Given the description of an element on the screen output the (x, y) to click on. 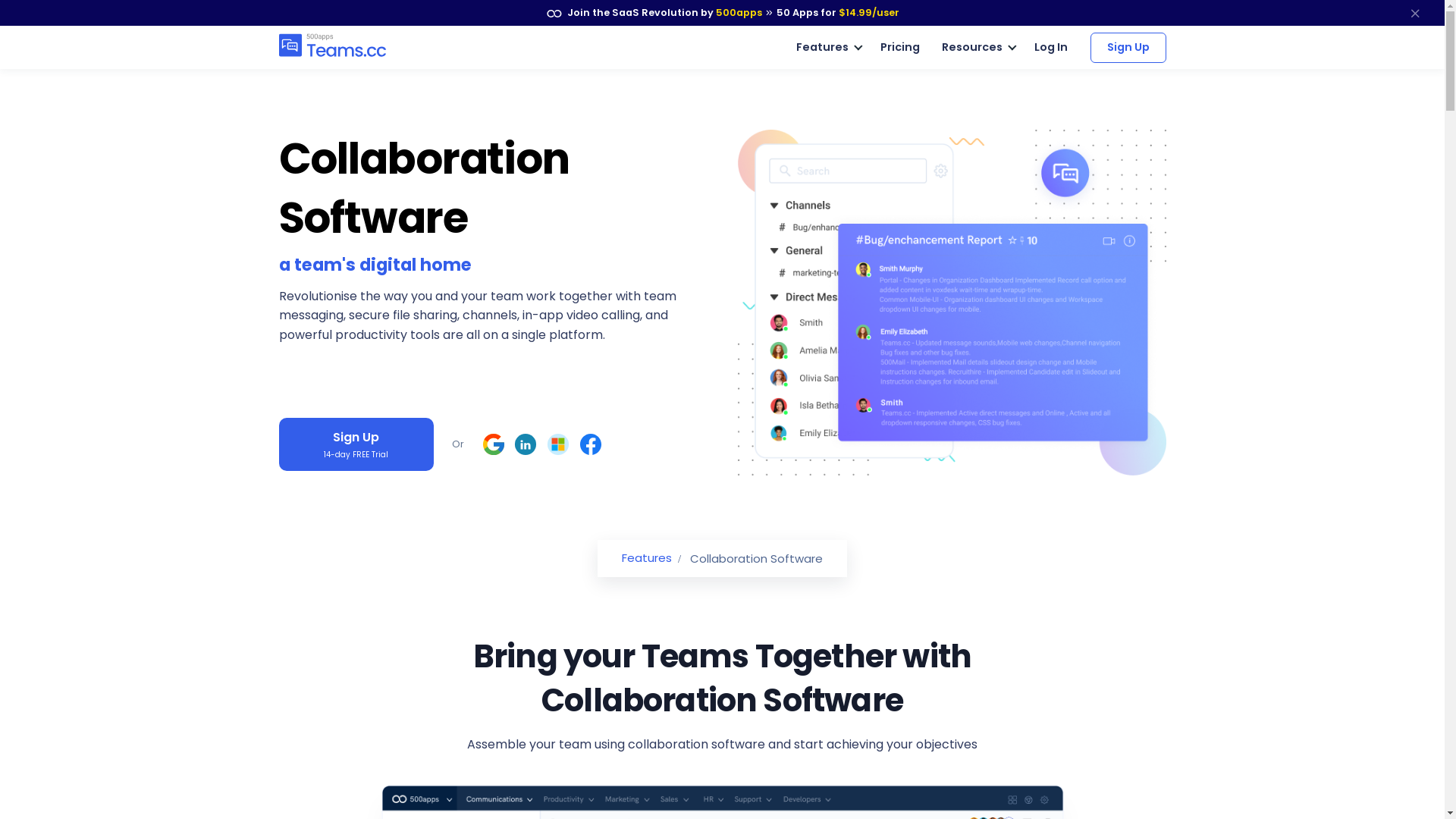
Features Element type: text (646, 557)
Team Chat Element type: hover (357, 47)
Pricing Element type: text (899, 47)
Features Element type: text (827, 47)
close Element type: hover (1414, 12)
Resources Element type: text (976, 47)
Join the SaaS Revolution by 500apps 50 Apps for $14.99/user Element type: text (722, 12)
Sign Up Element type: text (1128, 46)
Log In Element type: text (1050, 47)
Sign Up
14-day FREE Trial Element type: text (356, 444)
